Given the description of an element on the screen output the (x, y) to click on. 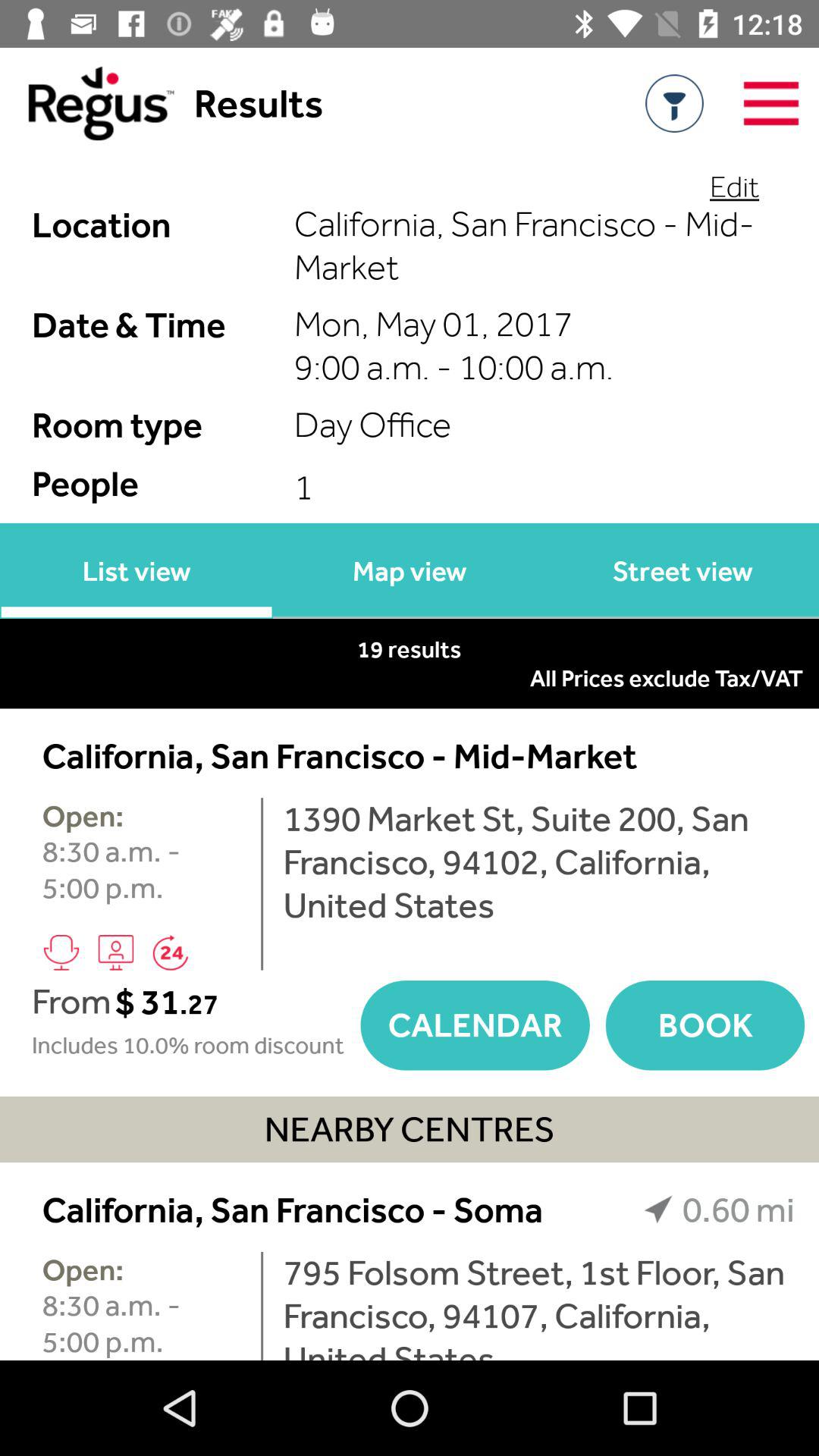
press item below california san francisco item (538, 1305)
